Given the description of an element on the screen output the (x, y) to click on. 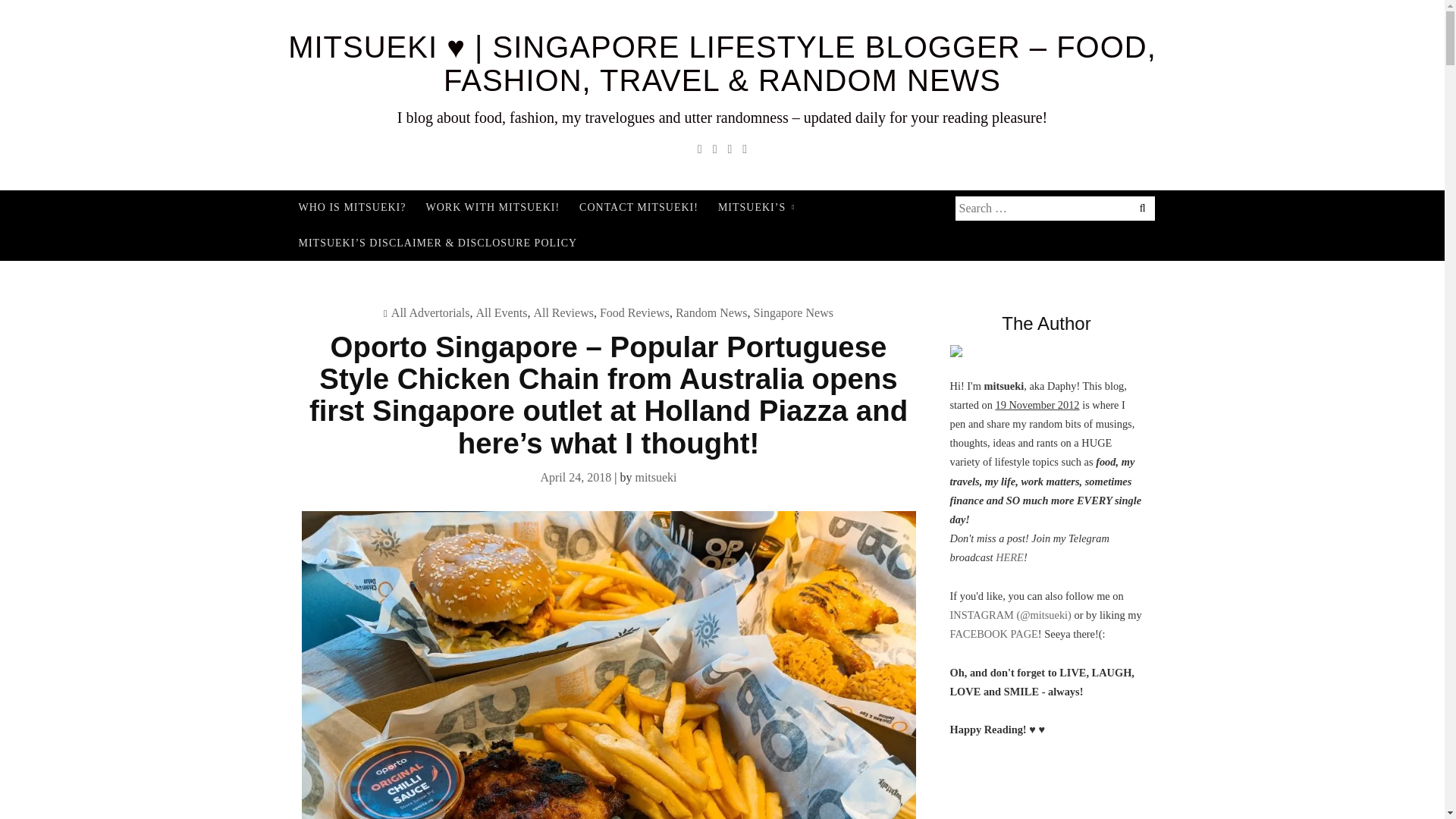
Random News (711, 312)
CONTACT MITSUEKI! (638, 208)
WORK WITH MITSUEKI! (491, 208)
Search (99, 12)
WHO IS MITSUEKI? (351, 208)
CAG Affiliate Widget (1045, 790)
Food Reviews (634, 312)
All Advertorials (430, 312)
Singapore News (793, 312)
mitsueki (655, 477)
